Given the description of an element on the screen output the (x, y) to click on. 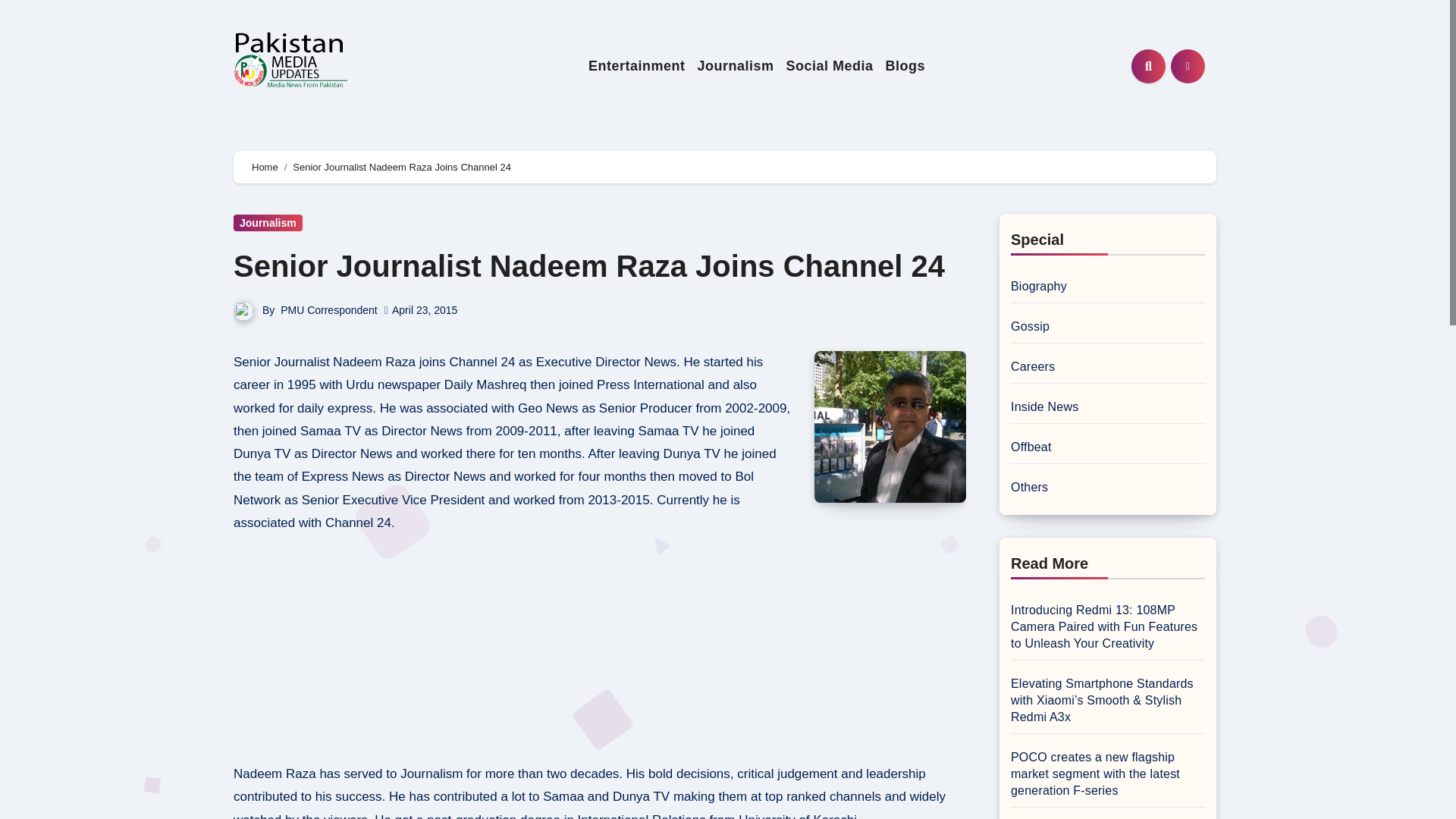
Journalism (267, 222)
Journalism (734, 66)
Social Media (828, 66)
Permalink to: Senior Journalist Nadeem Raza Joins Channel 24 (588, 265)
Journalism (734, 66)
Advertisement (601, 653)
Blogs (905, 66)
Home (264, 166)
Senior Journalist Nadeem Raza Joins Channel 24 (588, 265)
Social Media (828, 66)
Entertainment (636, 66)
Blogs (905, 66)
PMU Correspondent (329, 309)
April 23, 2015 (424, 309)
Entertainment (636, 66)
